Given the description of an element on the screen output the (x, y) to click on. 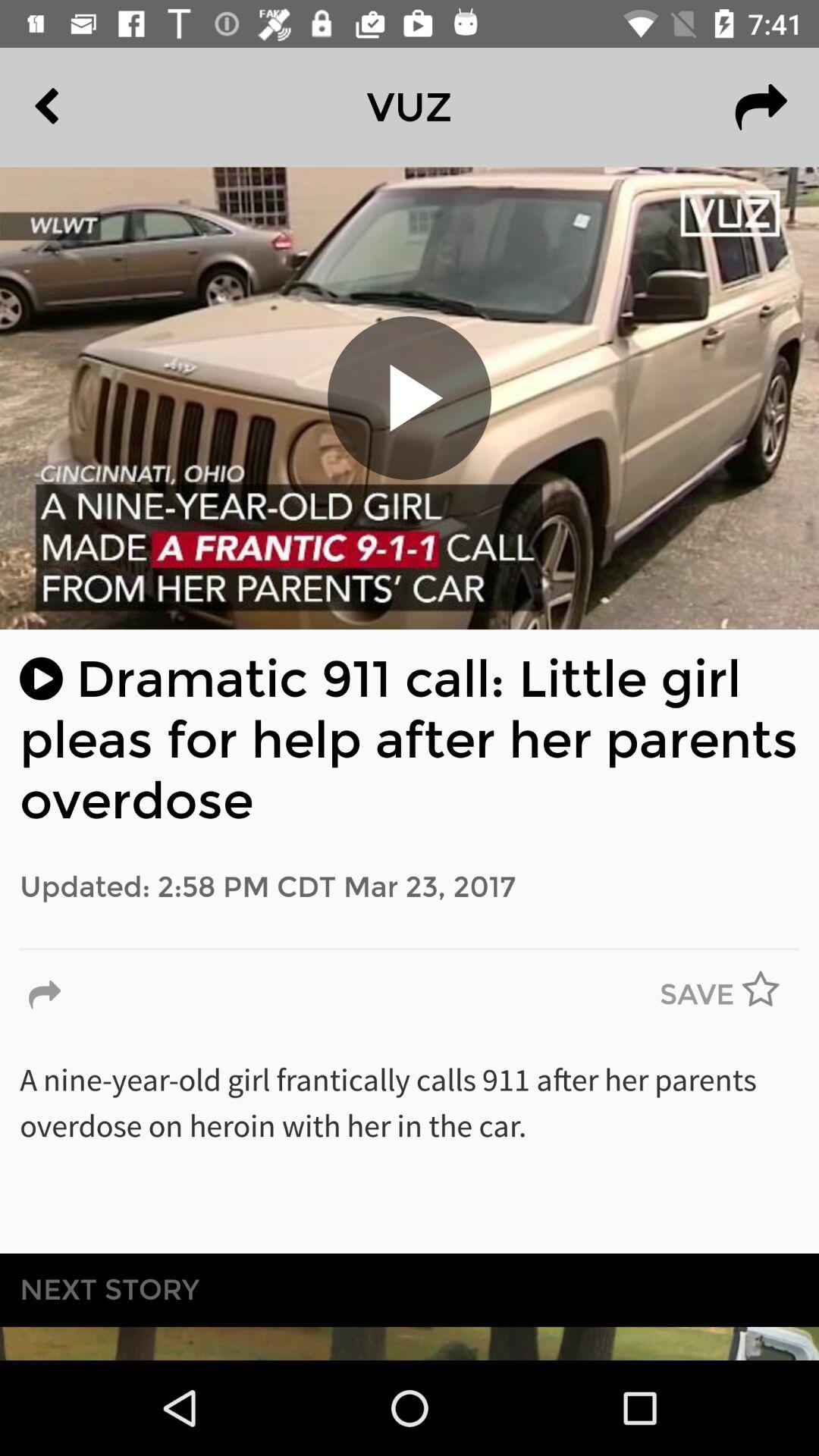
select the icon to the right of vuz (761, 107)
